Given the description of an element on the screen output the (x, y) to click on. 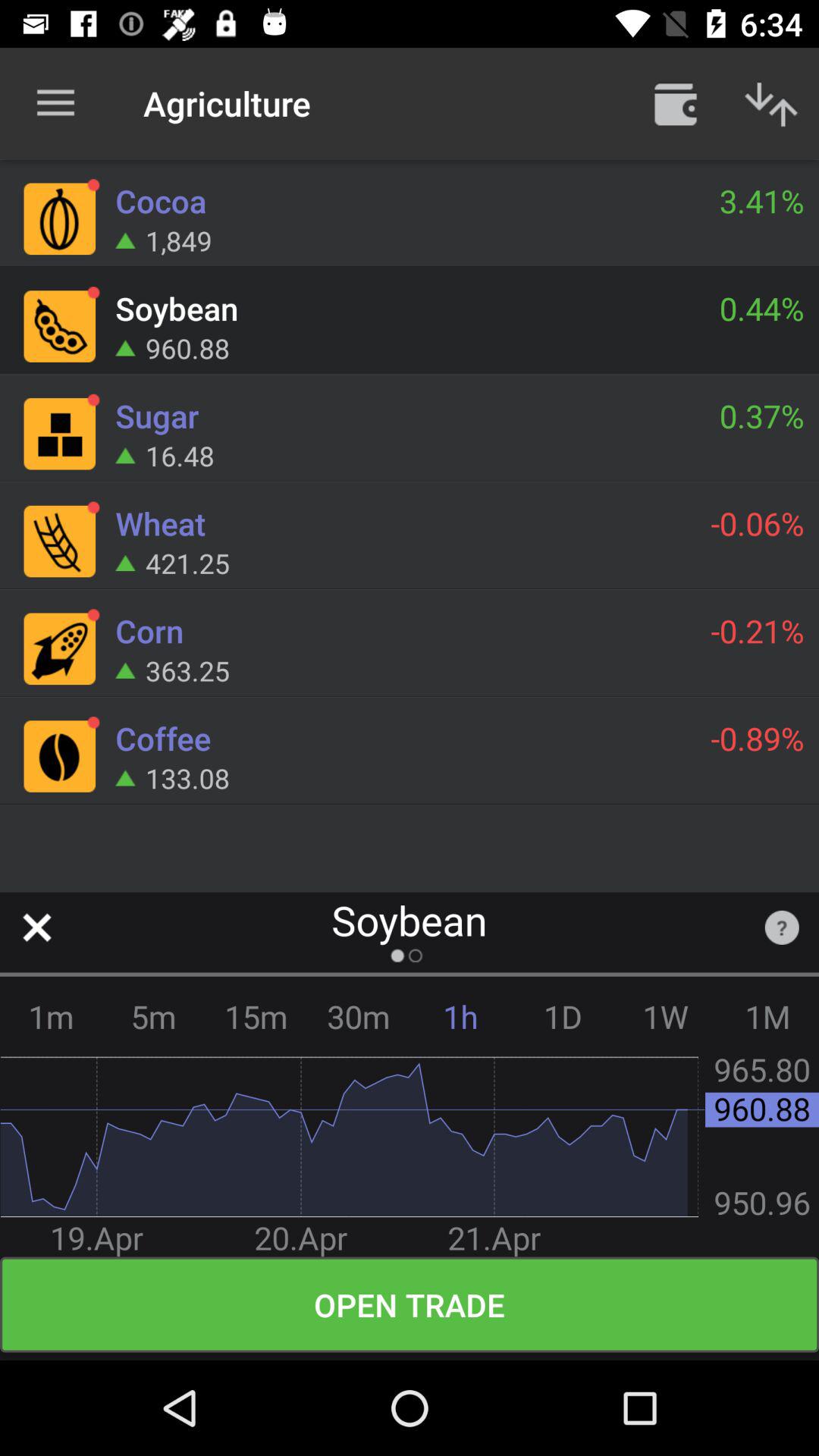
exit out of selection (36, 927)
